Given the description of an element on the screen output the (x, y) to click on. 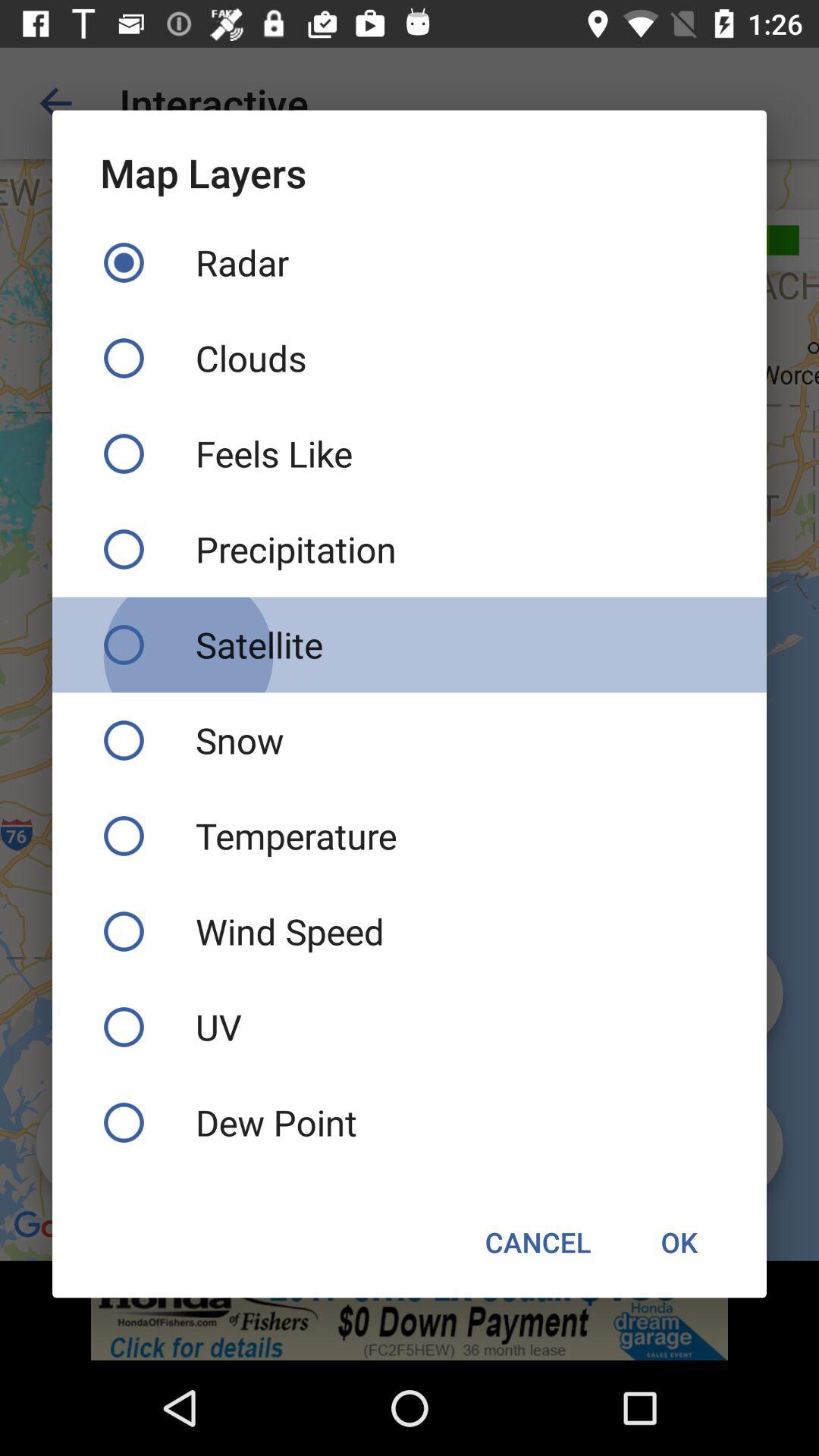
scroll to the ok (678, 1241)
